Given the description of an element on the screen output the (x, y) to click on. 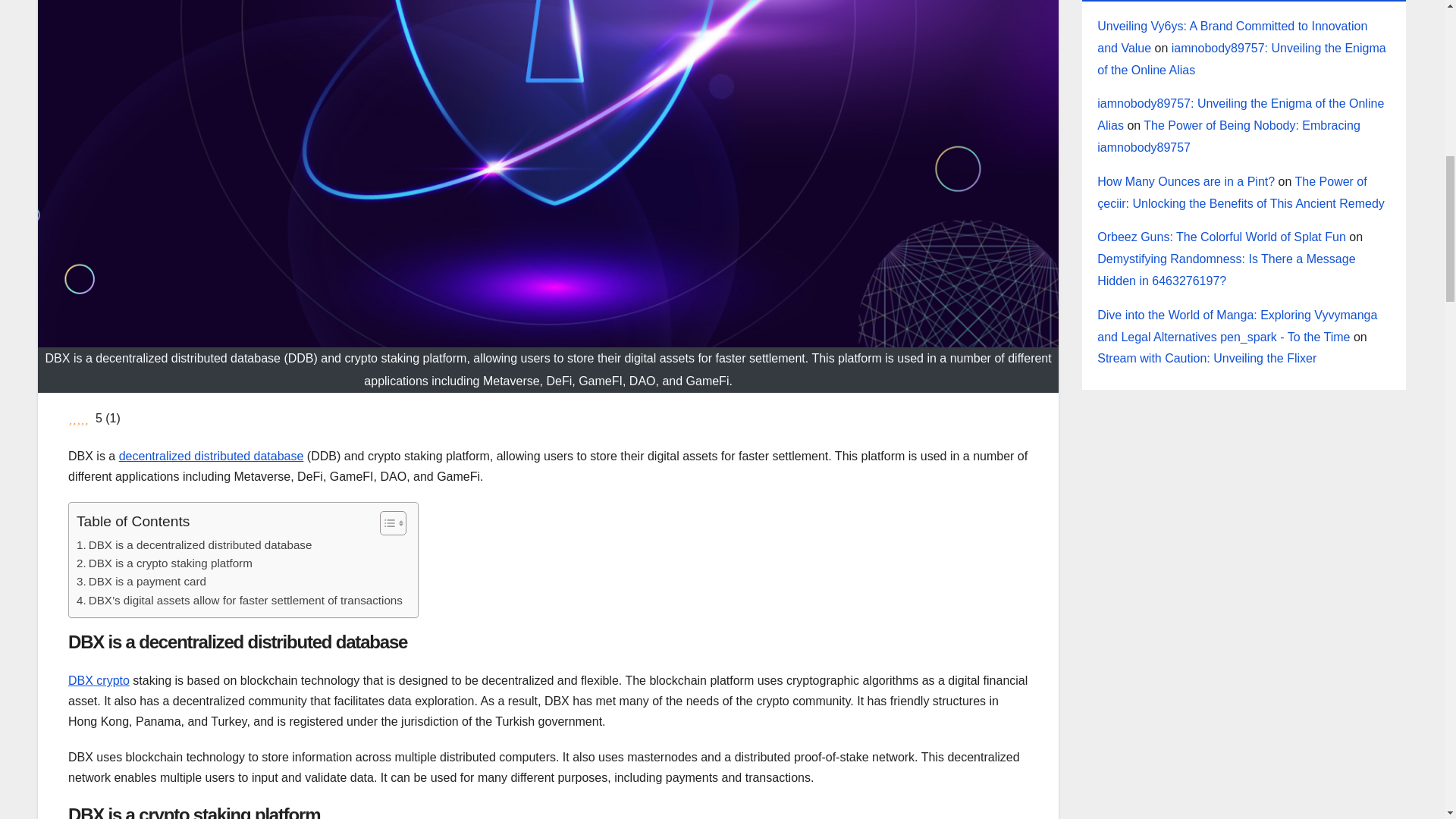
DBX is a payment card (141, 581)
DBX is a decentralized distributed database (194, 545)
DBX is a crypto staking platform (164, 563)
decentralized distributed database (211, 455)
